Given the description of an element on the screen output the (x, y) to click on. 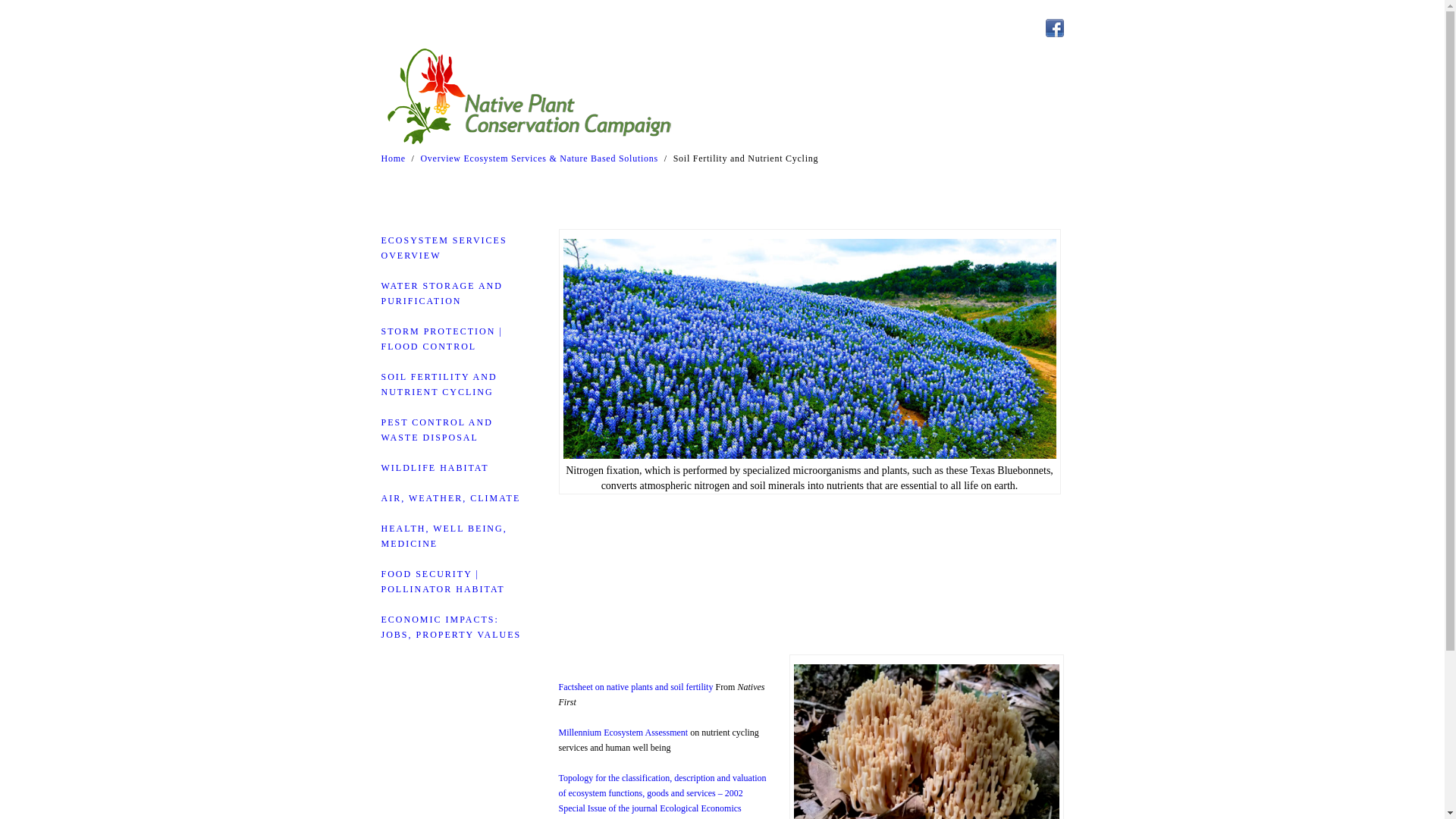
Home (392, 158)
ECONOMIC IMPACTS: JOBS, PROPERTY VALUES (450, 626)
SOIL FERTILITY AND NUTRIENT CYCLING (438, 384)
Millennium Ecosystem Assessment (622, 732)
HEALTH, WELL BEING, MEDICINE (443, 535)
Factsheet on native plants and soil fertility (635, 686)
WATER STORAGE AND PURIFICATION (441, 293)
ECOSYSTEM SERVICES OVERVIEW (443, 248)
WILDLIFE HABITAT (433, 467)
AIR, WEATHER, CLIMATE (449, 498)
LAWS (1038, 78)
PEST CONTROL AND WASTE DISPOSAL (436, 429)
Ecosystem Services Resources Sections (913, 78)
